Given the description of an element on the screen output the (x, y) to click on. 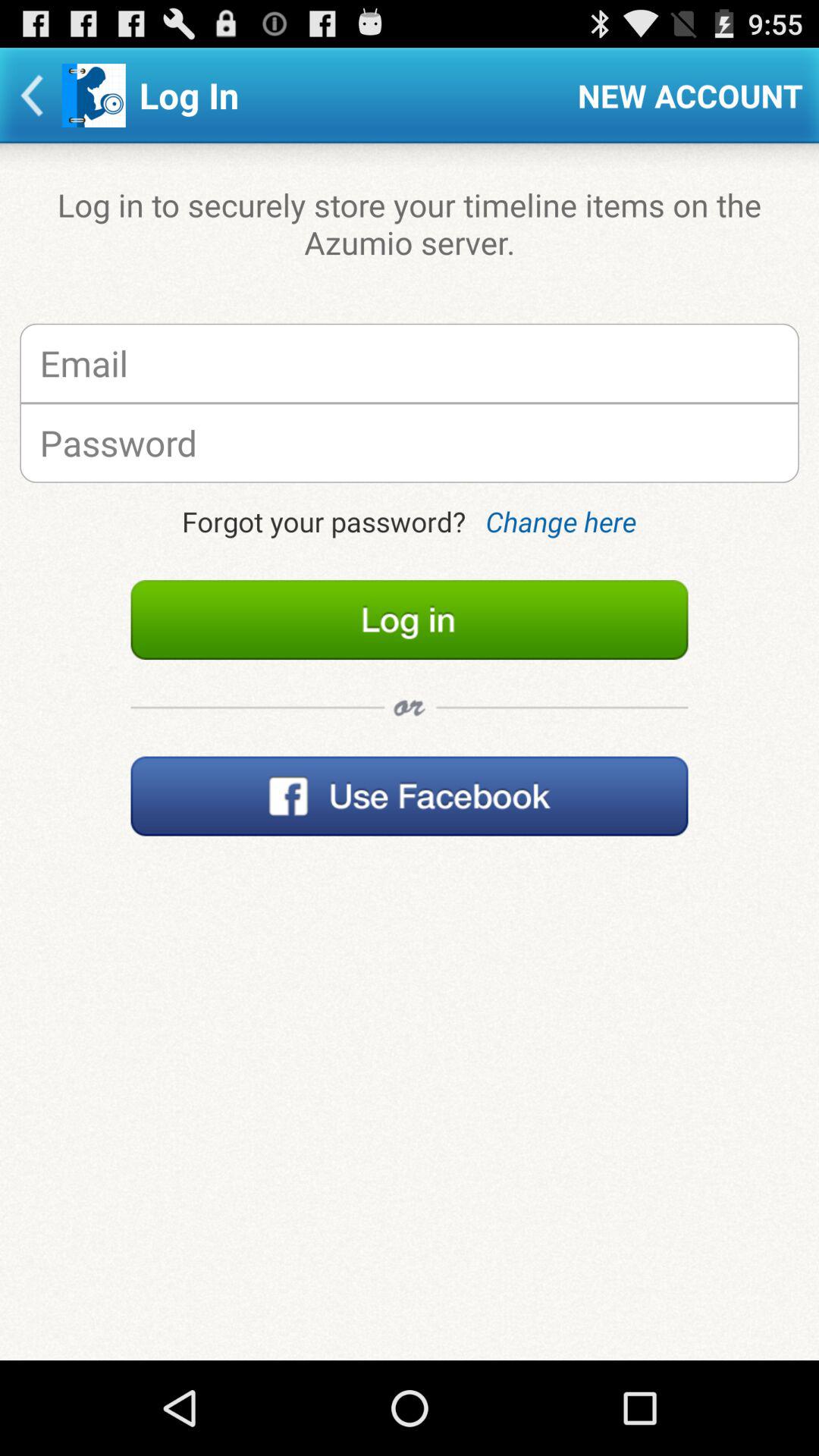
enter your password (409, 442)
